Given the description of an element on the screen output the (x, y) to click on. 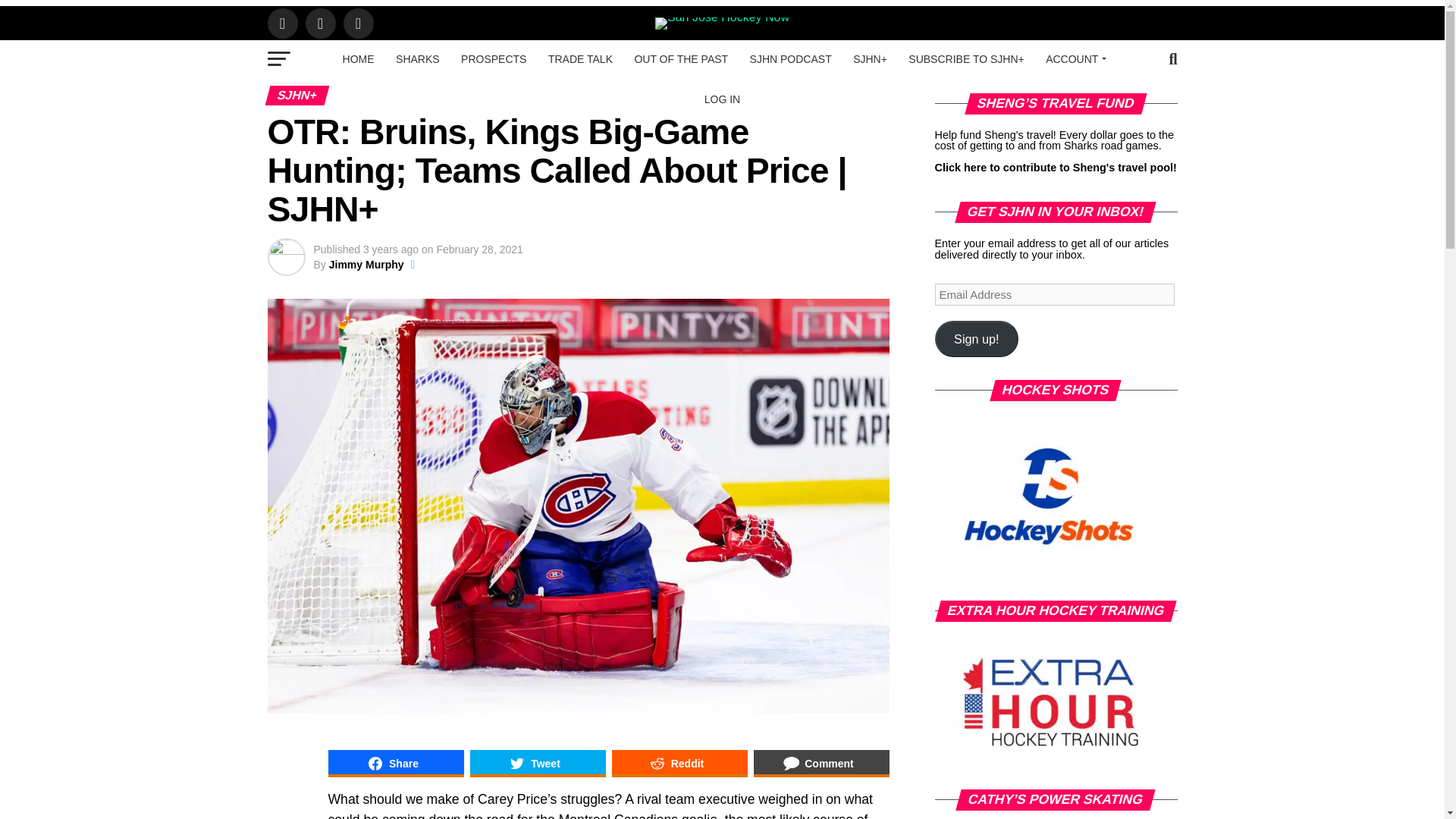
Posts by Jimmy Murphy (366, 264)
Share on Tweet (537, 763)
HOME (358, 58)
SHARKS (417, 58)
PROSPECTS (493, 58)
Share on Share (395, 763)
Share on Reddit (678, 763)
Share on Comment (821, 763)
TRADE TALK (579, 58)
